Given the description of an element on the screen output the (x, y) to click on. 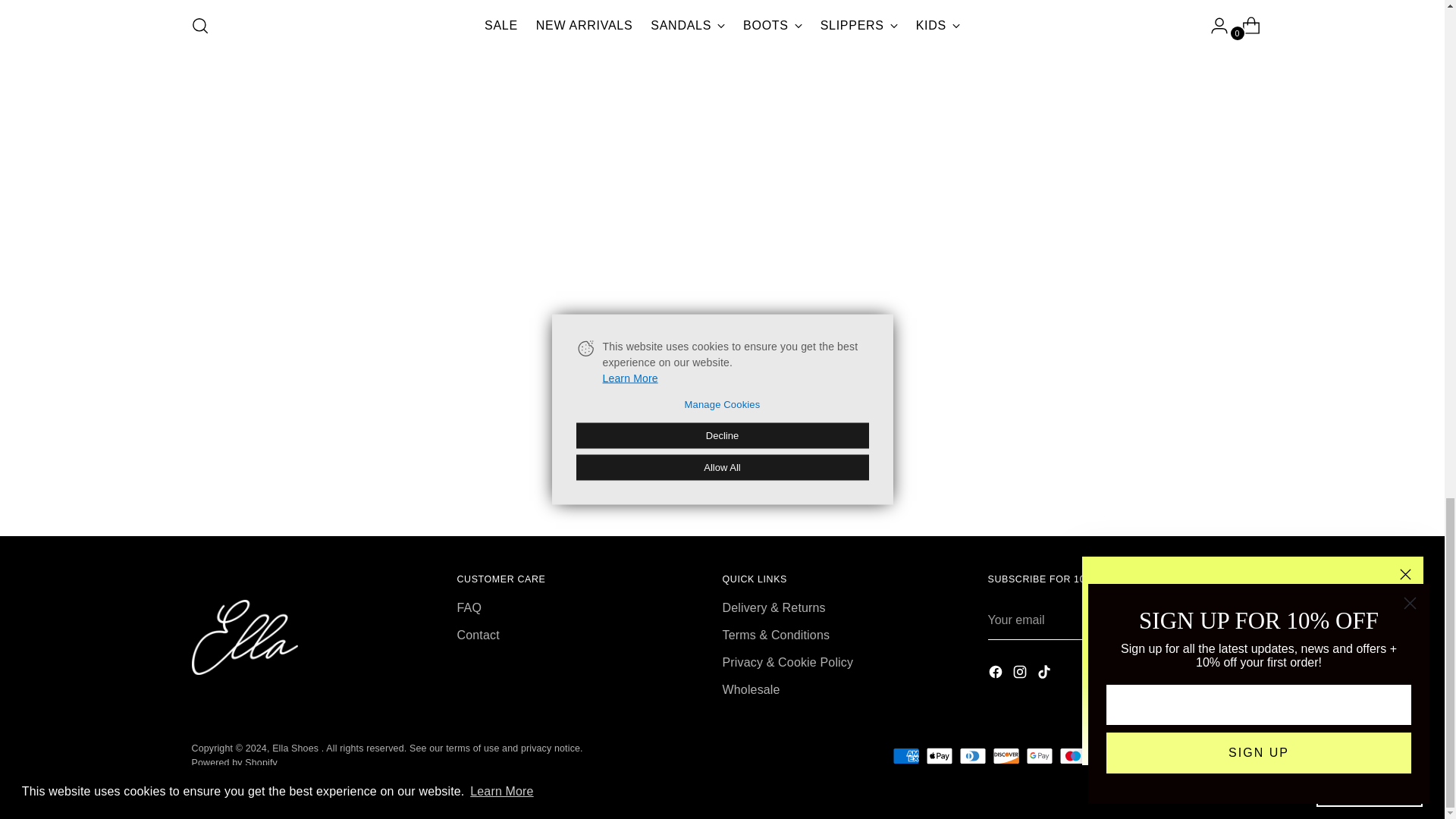
Ella Shoes  on Tiktok (248, 776)
Ella Shoes  on Facebook (996, 671)
Ella Shoes  on Instagram (223, 776)
Ella Shoes  on Tiktok (1044, 671)
Ella Shoes  on Instagram (1020, 671)
Ella Shoes  on Facebook (199, 776)
